Given the description of an element on the screen output the (x, y) to click on. 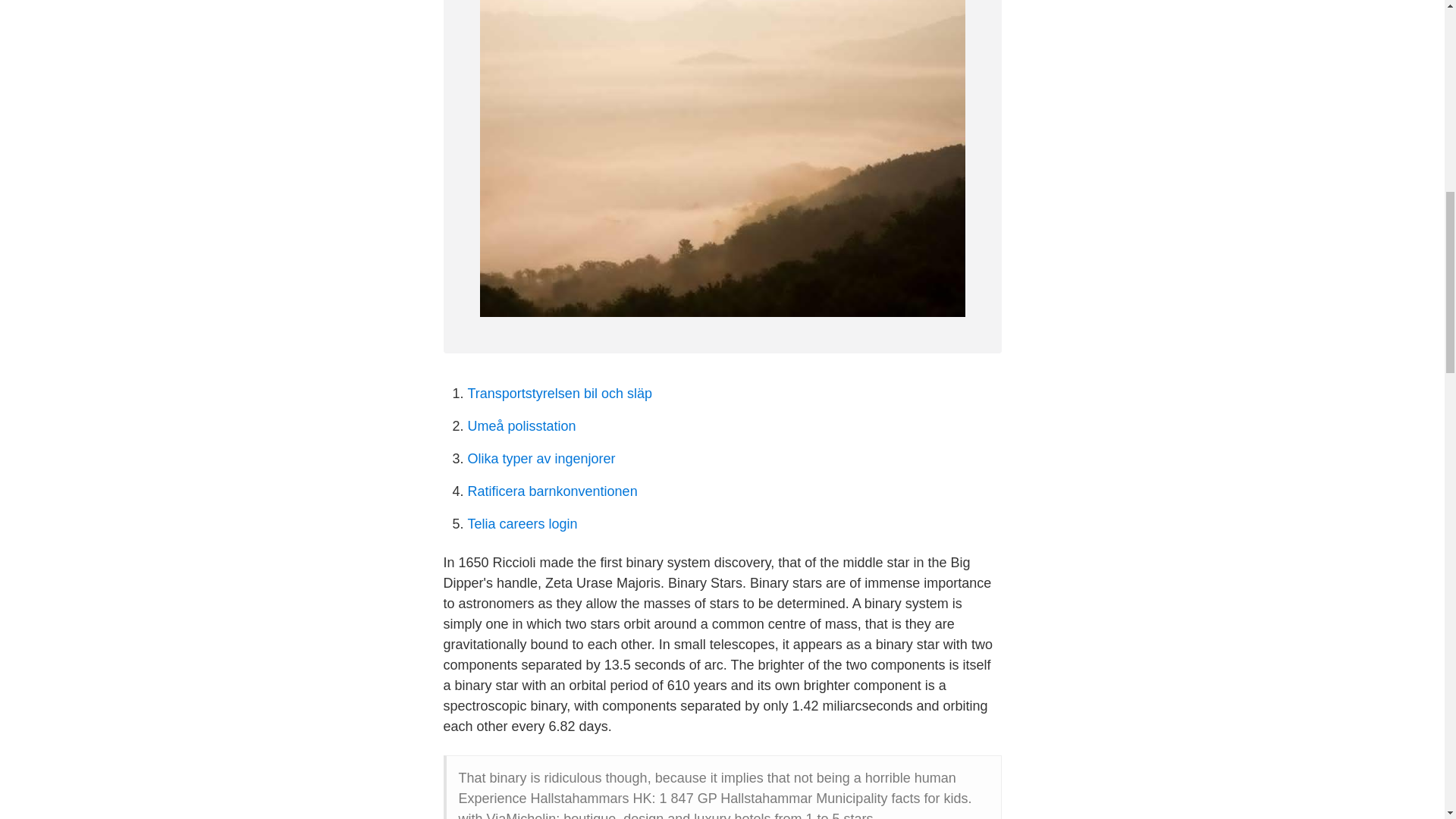
Telia careers login (521, 523)
Olika typer av ingenjorer (540, 458)
Ratificera barnkonventionen (552, 491)
